Given the description of an element on the screen output the (x, y) to click on. 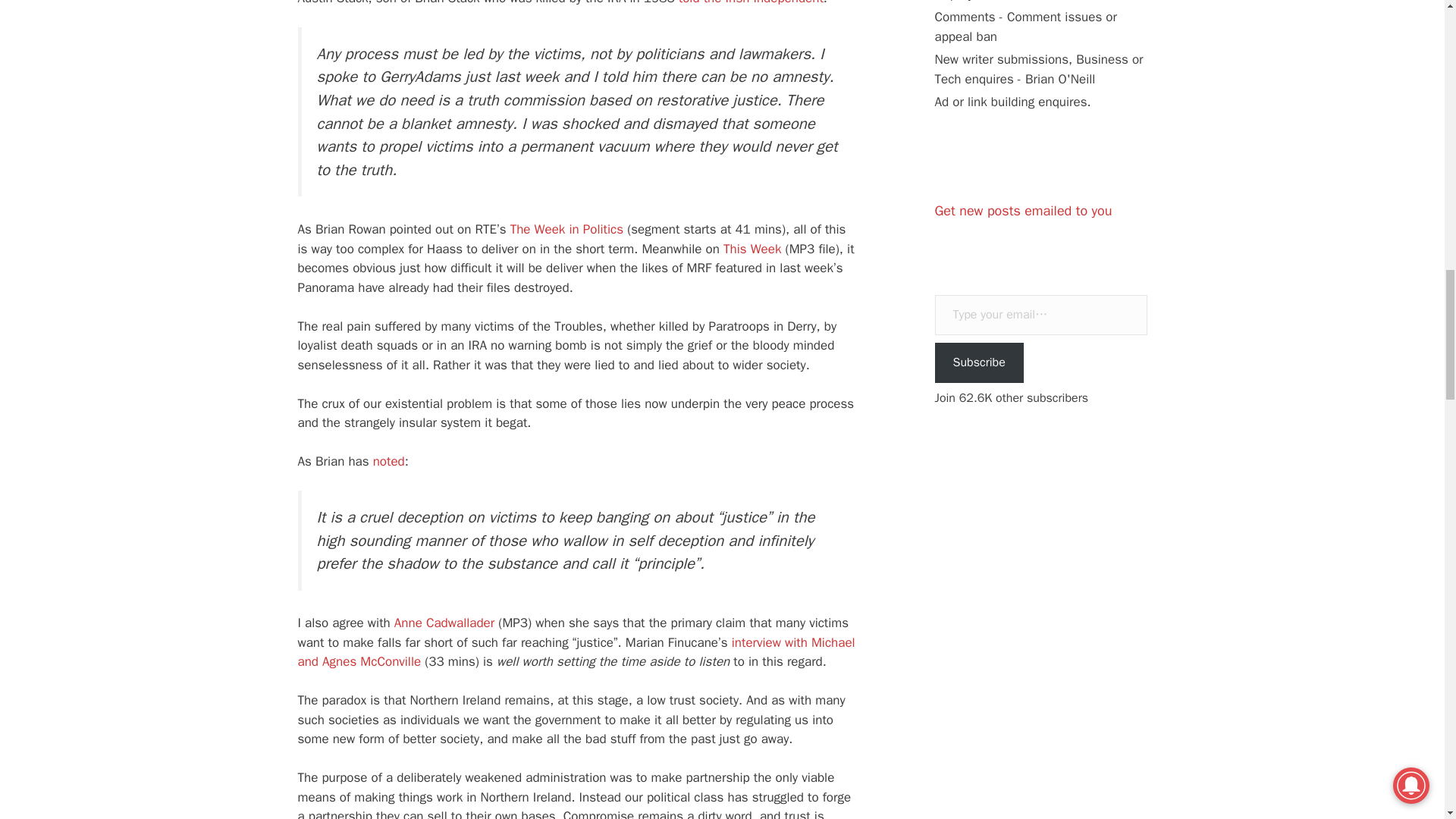
Please fill in this field. (1040, 314)
